Given the description of an element on the screen output the (x, y) to click on. 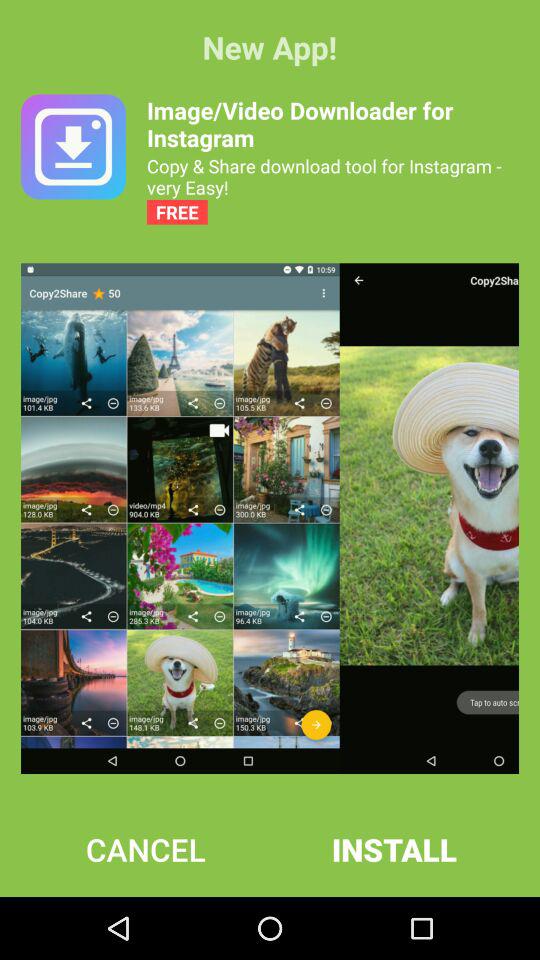
click icon next to install item (145, 849)
